Given the description of an element on the screen output the (x, y) to click on. 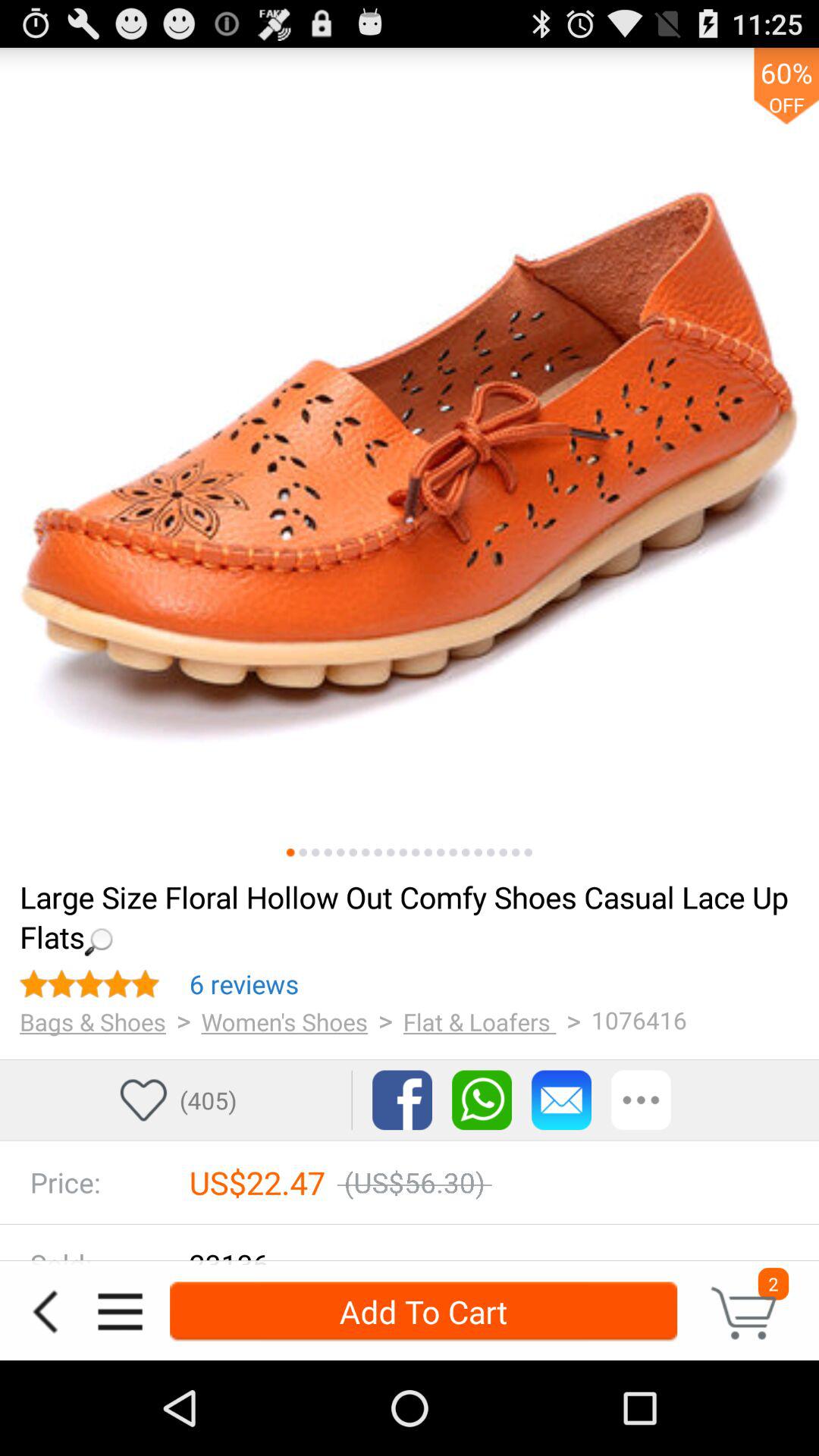
view image 20 (528, 852)
